Given the description of an element on the screen output the (x, y) to click on. 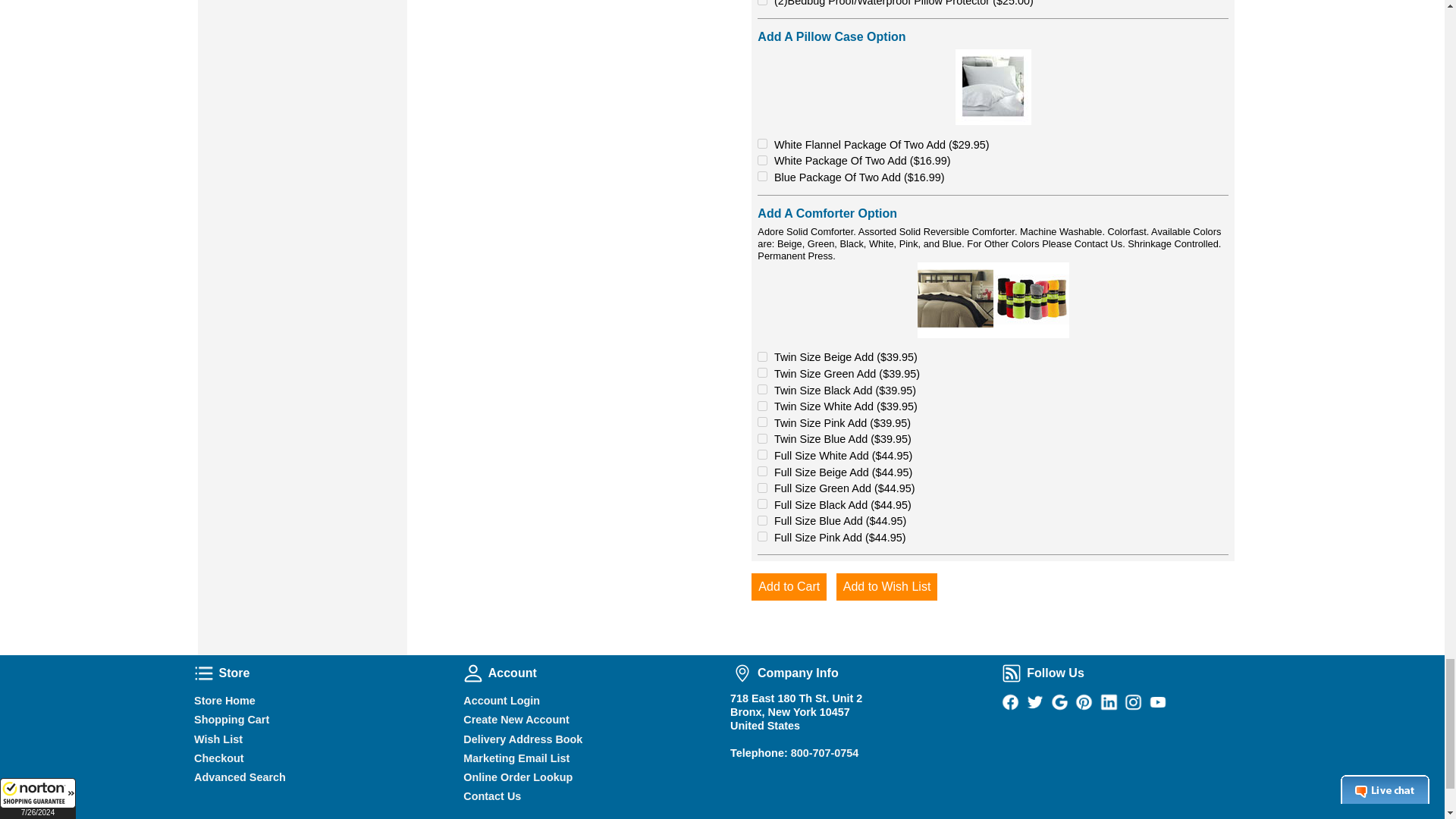
Add to Wish List (886, 586)
Add to Cart (789, 586)
